Given the description of an element on the screen output the (x, y) to click on. 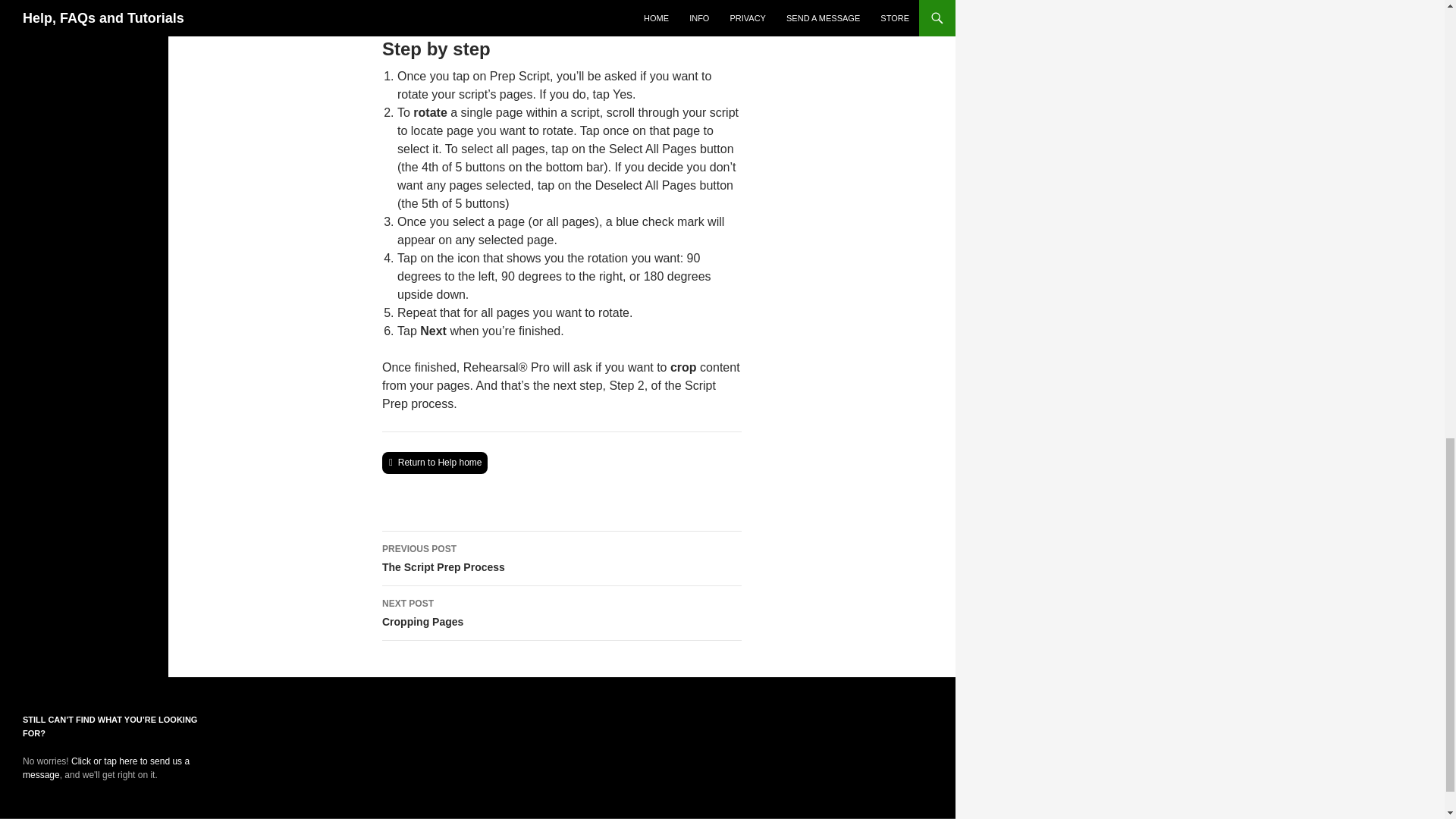
Click or tap here to send us a message (106, 767)
Fullscreen (561, 558)
Mute (663, 2)
Return to Help home (638, 2)
Play (434, 463)
